Given the description of an element on the screen output the (x, y) to click on. 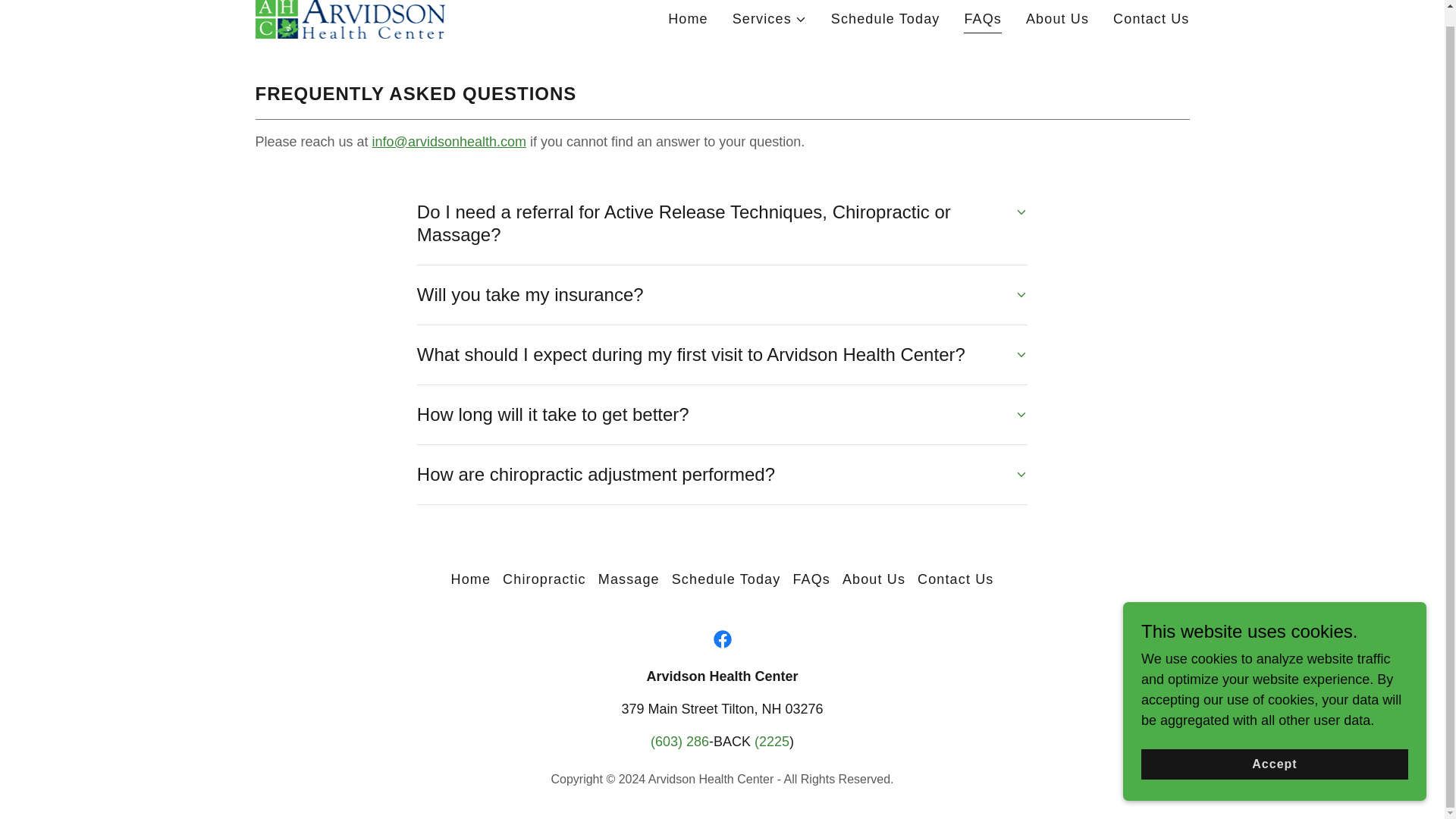
Chiropractic (544, 579)
Home (471, 579)
How long will it take to get better? (721, 414)
Services (769, 19)
About Us (1057, 19)
FAQs (982, 21)
Will you take my insurance? (721, 294)
Massage (628, 579)
Arvidson Health Center (349, 16)
